Given the description of an element on the screen output the (x, y) to click on. 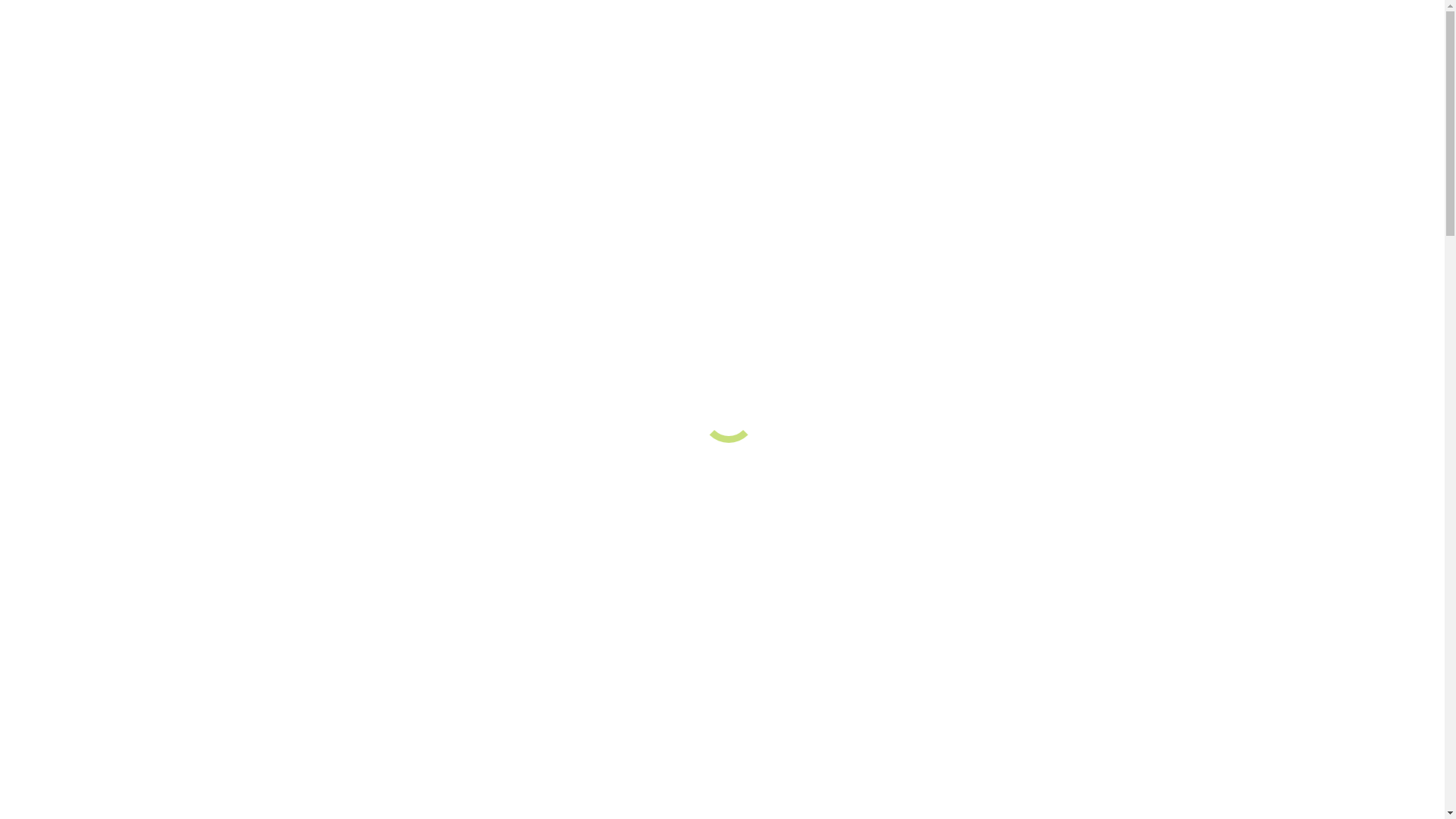
SMARTPHONE / TABLETTE Element type: text (111, 172)
NOS SERVICES Element type: text (77, 225)
ACCUEIL Element type: text (62, 106)
ACCUEIL Element type: text (62, 212)
MAC / APPLE Element type: text (72, 159)
NOS PRODUITS Element type: text (79, 133)
MAC / APPLE Element type: text (72, 253)
NOS PRODUITS Element type: text (79, 239)
SMARTPHONE / TABLETTE Element type: text (111, 266)
NOS SERVICES Element type: text (77, 119)
CONTACT Element type: text (64, 186)
CONTACT Element type: text (64, 280)
Contenu en pleine largeur Element type: text (68, 12)
